Given the description of an element on the screen output the (x, y) to click on. 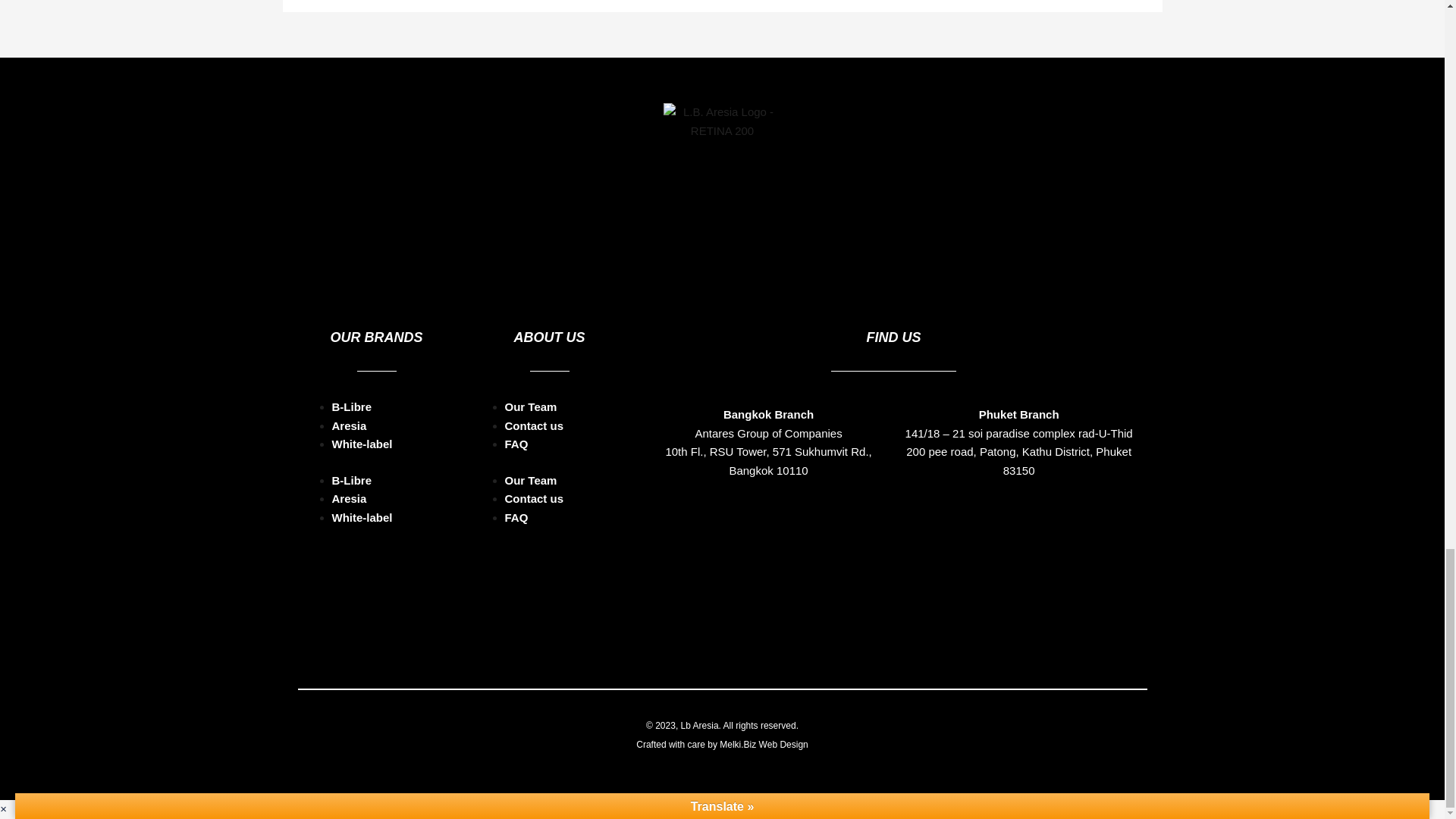
Aresia (348, 498)
Melki.Biz Web Design (763, 744)
Aresia (348, 425)
B-Libre (351, 480)
White-label (362, 517)
B-Libre (351, 406)
White-label (362, 443)
